Given the description of an element on the screen output the (x, y) to click on. 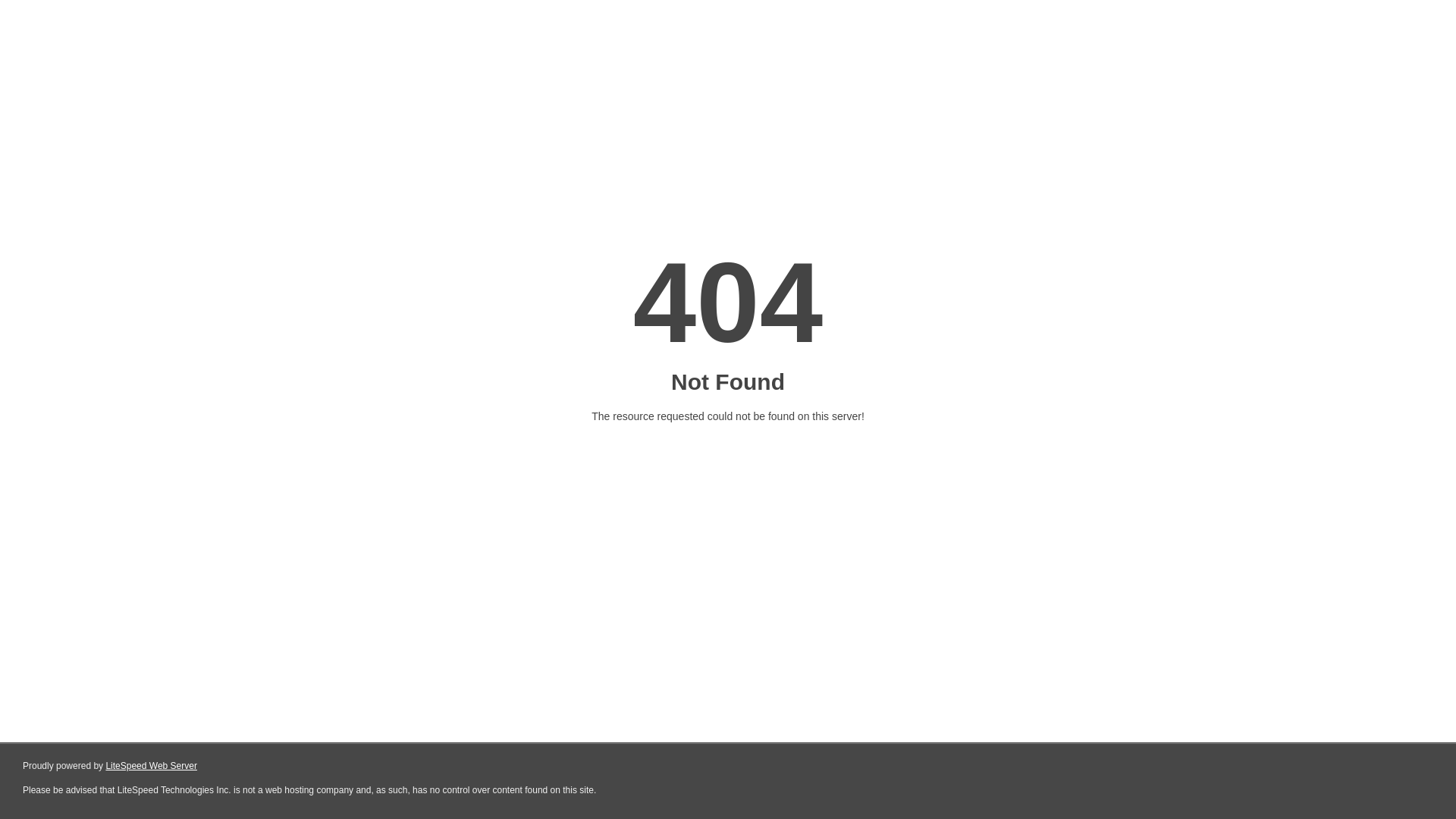
LiteSpeed Web Server Element type: text (151, 765)
